Given the description of an element on the screen output the (x, y) to click on. 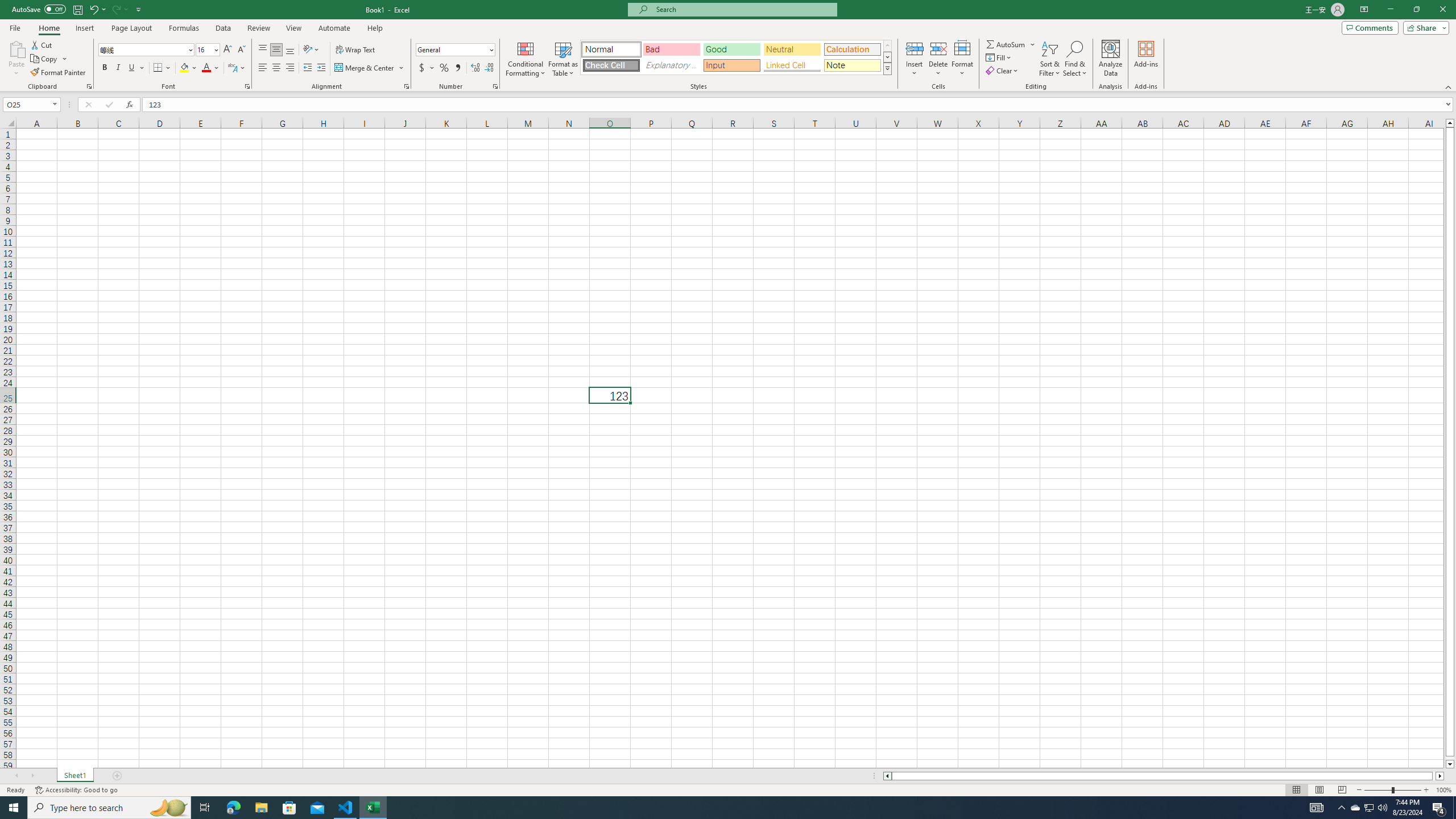
Calculation (852, 49)
Bold (104, 67)
Font Size (207, 49)
Format Painter (58, 72)
Neutral (791, 49)
Wrap Text (355, 49)
File Tab (15, 27)
Comments (1369, 27)
Minimize (1390, 9)
Zoom In (1426, 790)
Linked Cell (791, 65)
Line down (1449, 764)
